Given the description of an element on the screen output the (x, y) to click on. 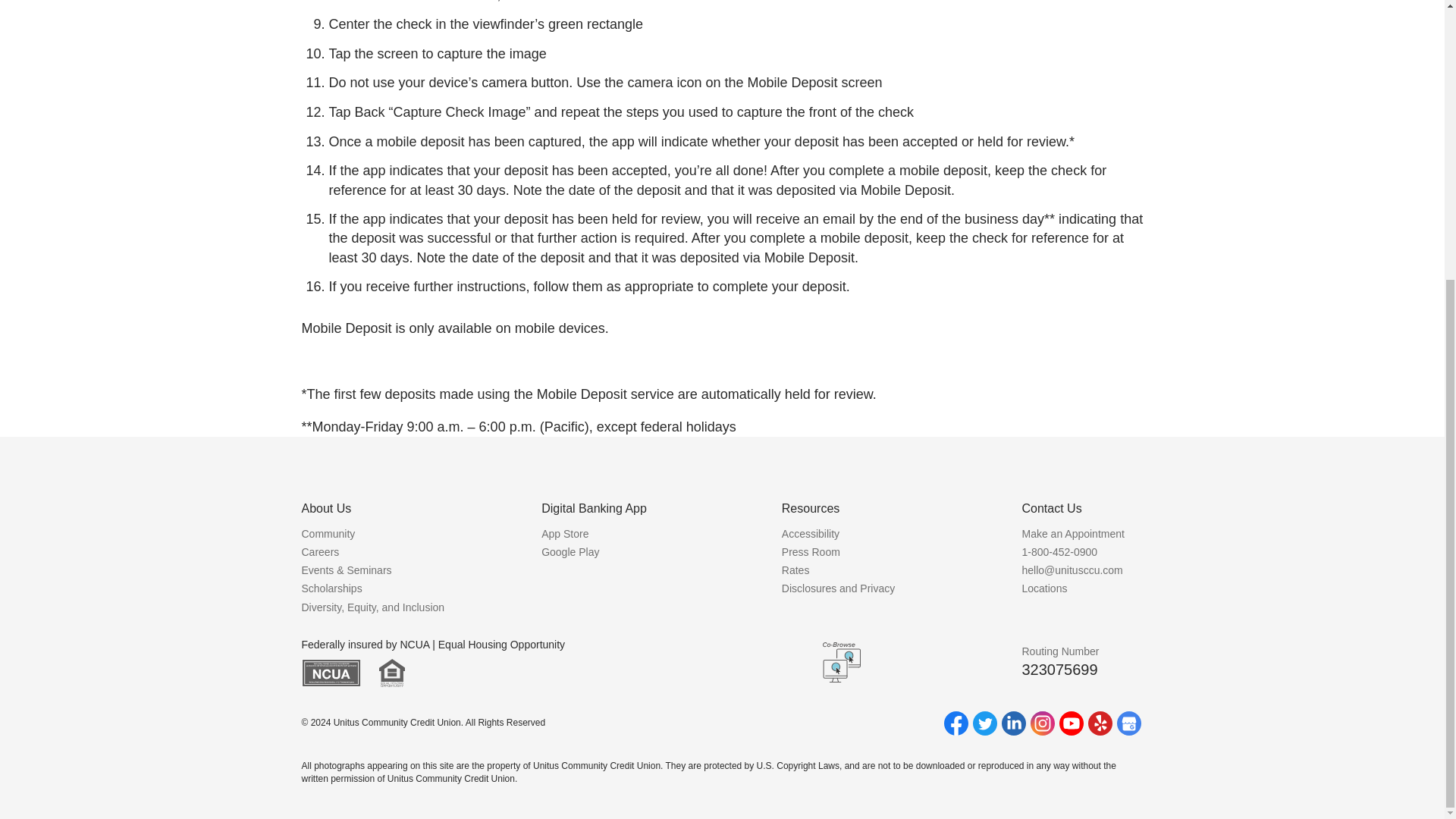
Facebook Logo (955, 723)
Yelp Logo (1099, 723)
